Given the description of an element on the screen output the (x, y) to click on. 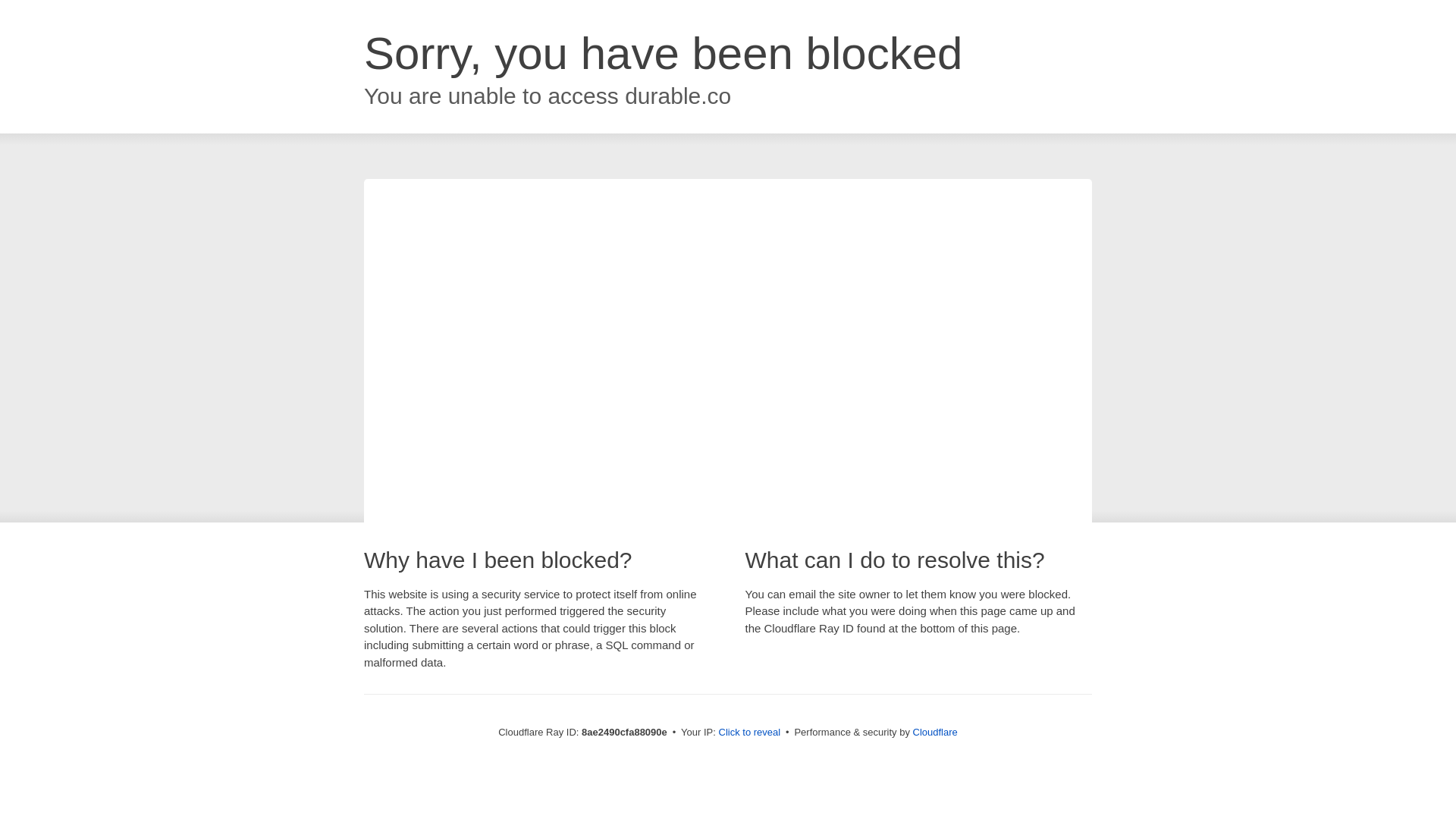
Cloudflare (935, 731)
Click to reveal (749, 732)
